Given the description of an element on the screen output the (x, y) to click on. 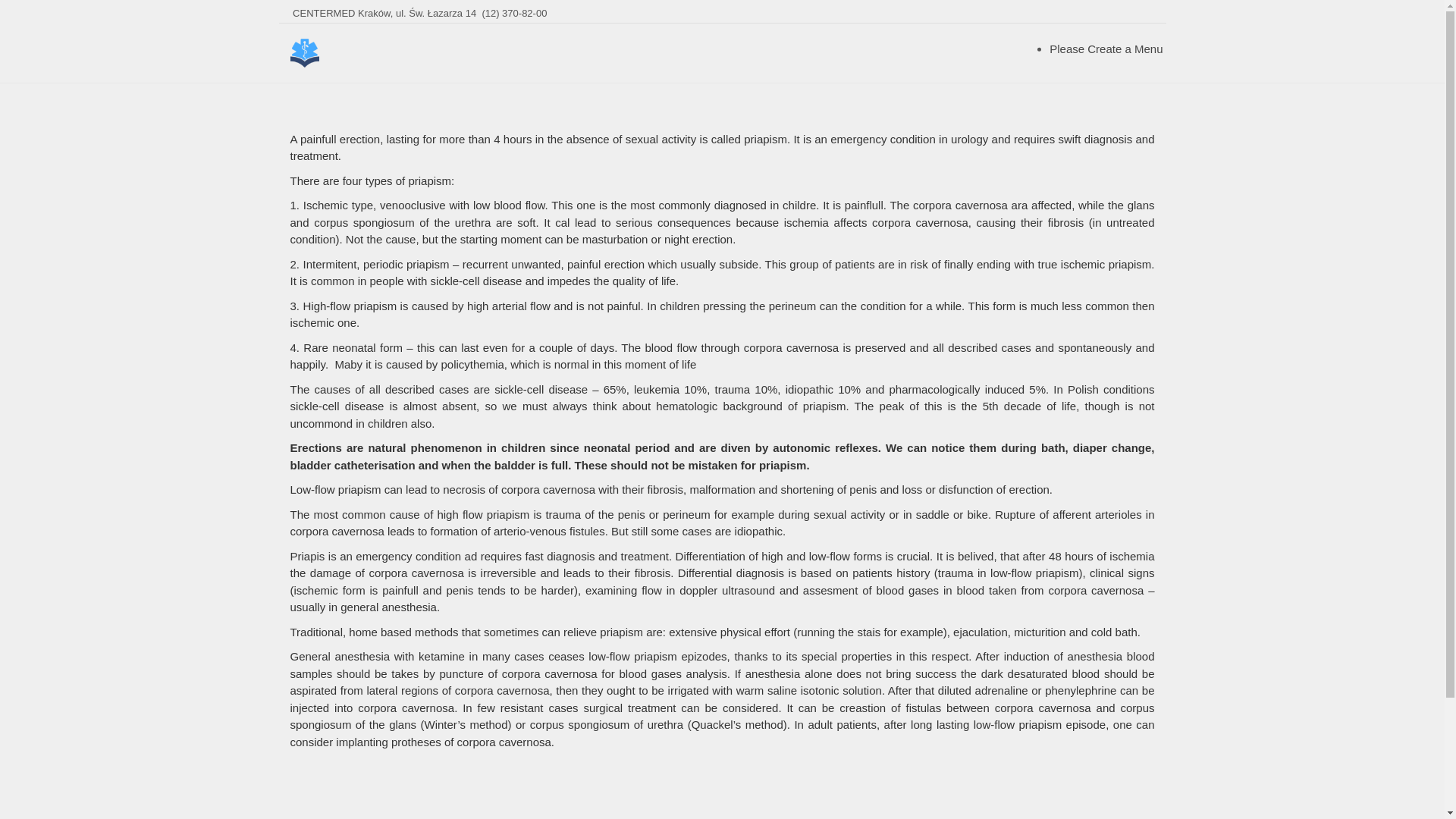
Please Create a Menu (1105, 47)
